Given the description of an element on the screen output the (x, y) to click on. 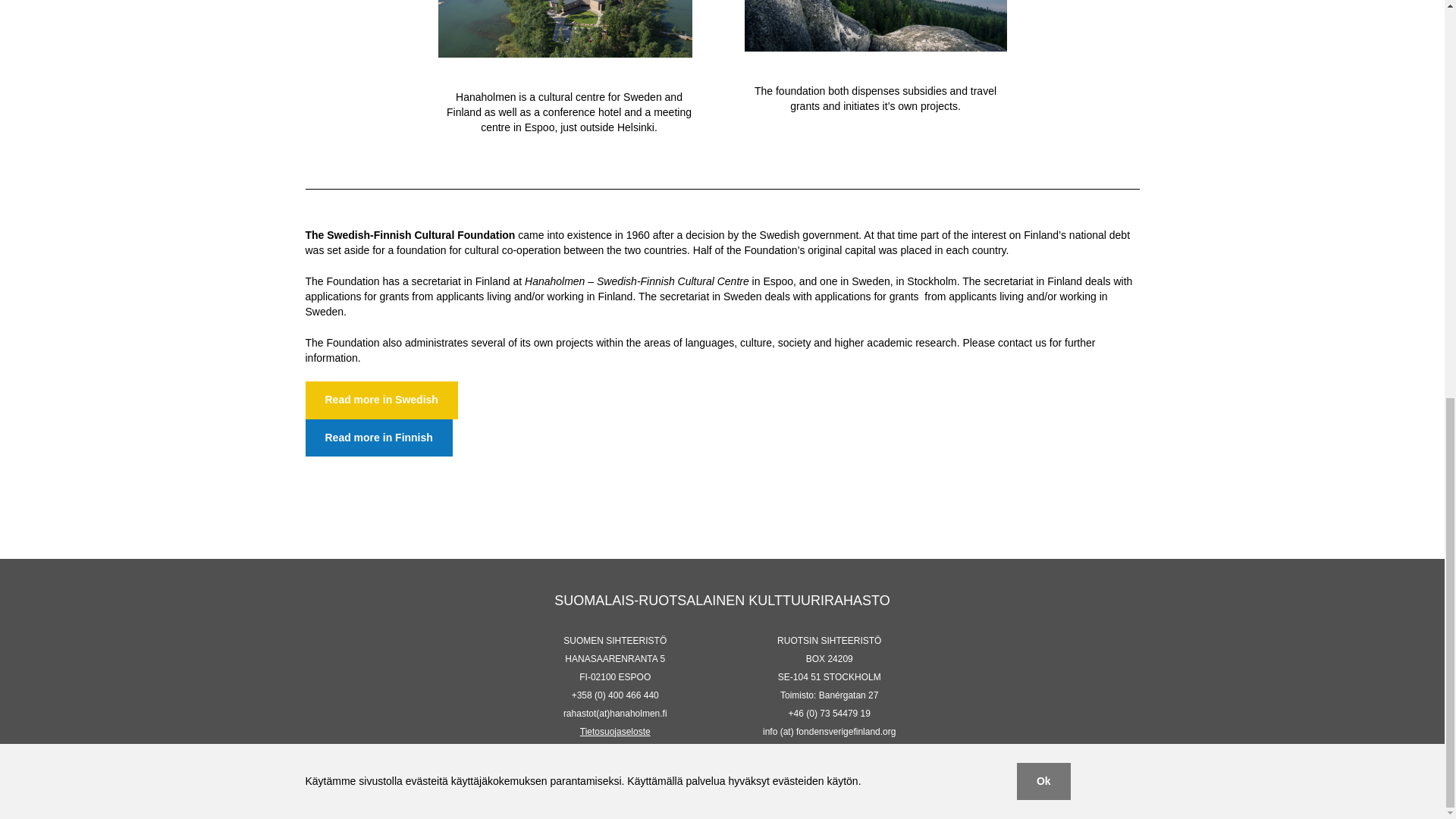
Read more in Finnish (377, 437)
Read more in Swedish (380, 399)
